Given the description of an element on the screen output the (x, y) to click on. 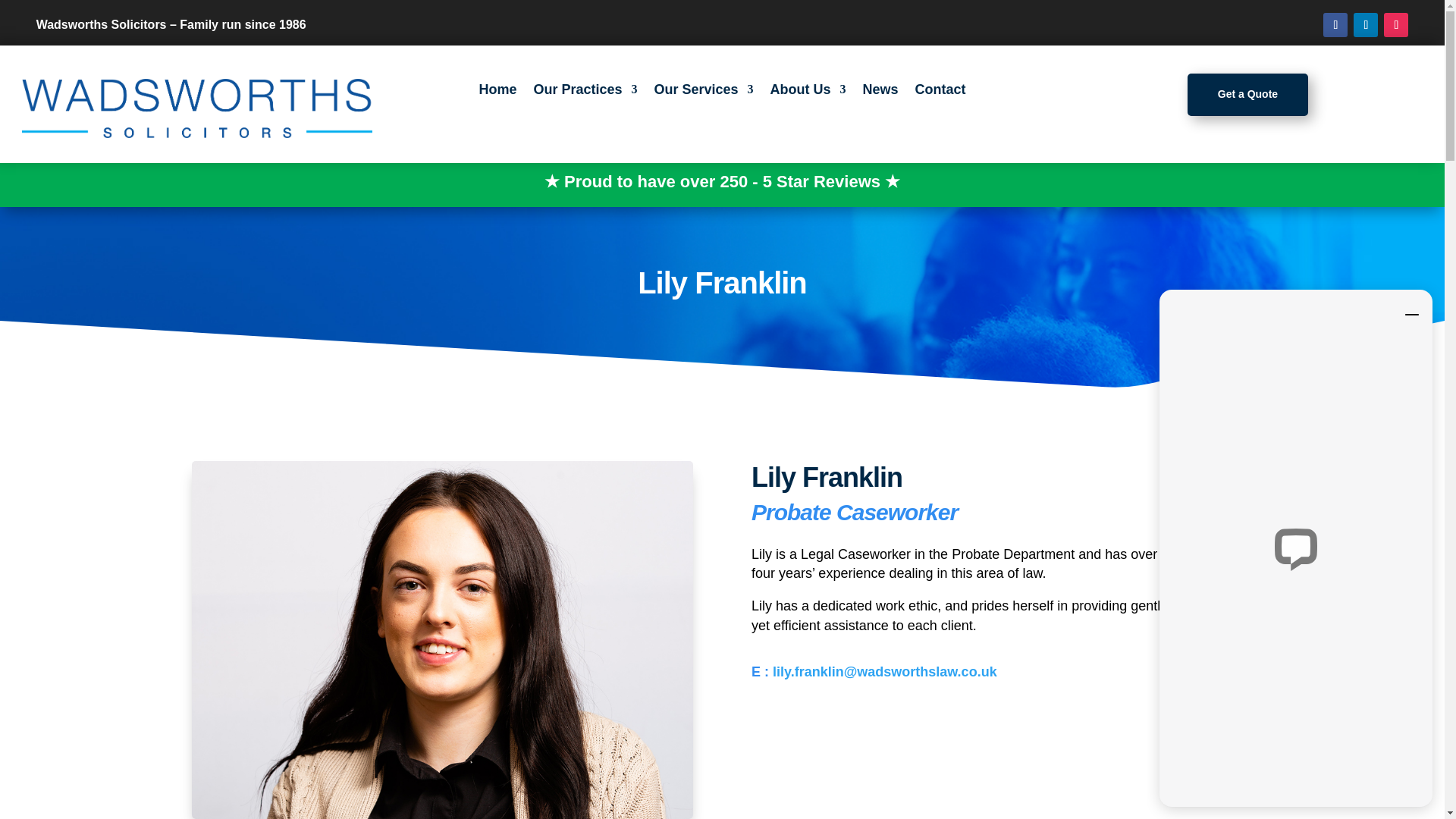
Our Services (702, 92)
About Us (807, 92)
Follow on Instagram (1395, 24)
Follow on Facebook (1335, 24)
Contact (940, 92)
logo (196, 108)
Our Practices (584, 92)
News (880, 92)
Home (497, 92)
Follow on LinkedIn (1365, 24)
